Given the description of an element on the screen output the (x, y) to click on. 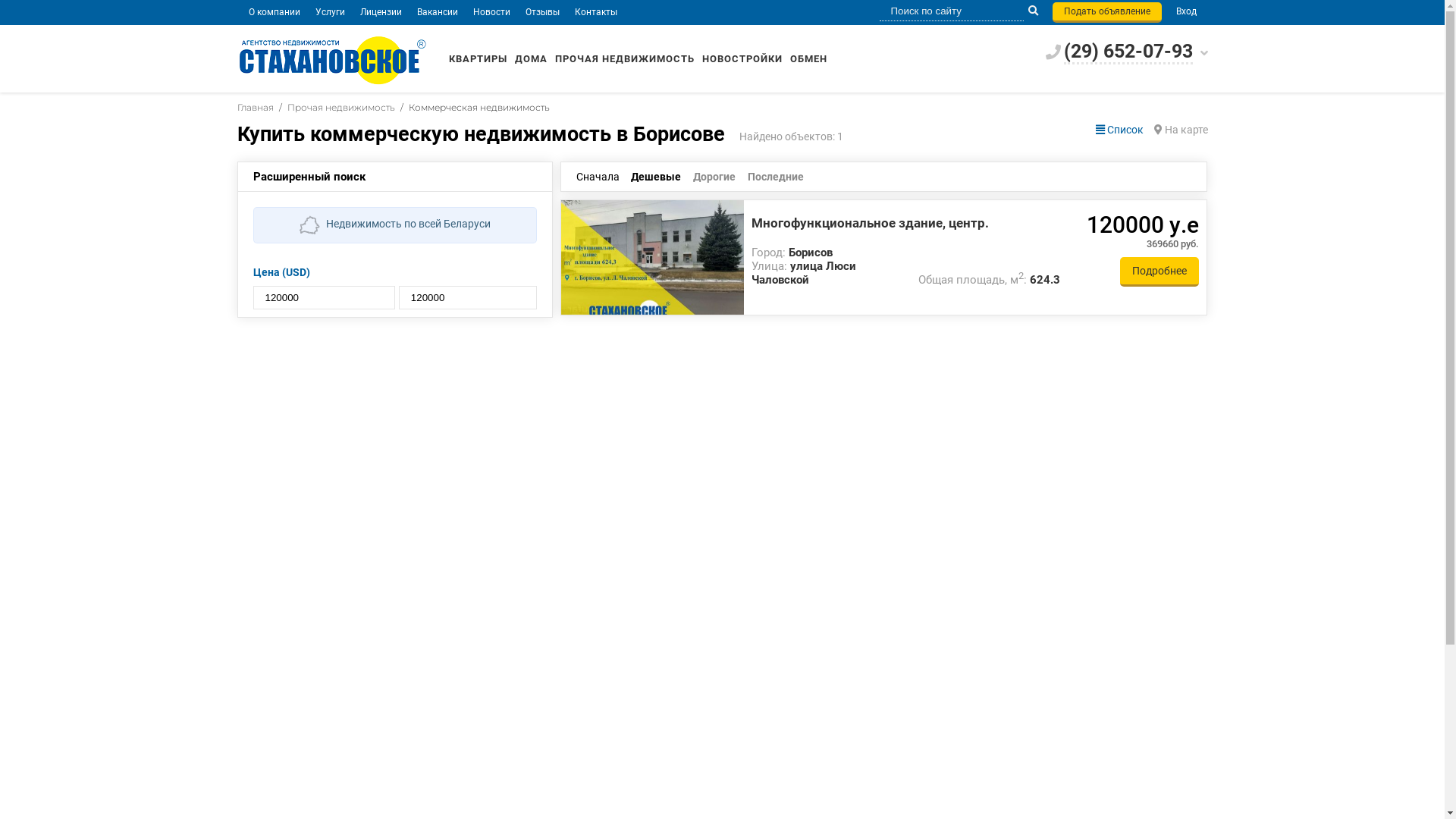
(29) 652-07-93 Element type: text (1127, 52)
